Given the description of an element on the screen output the (x, y) to click on. 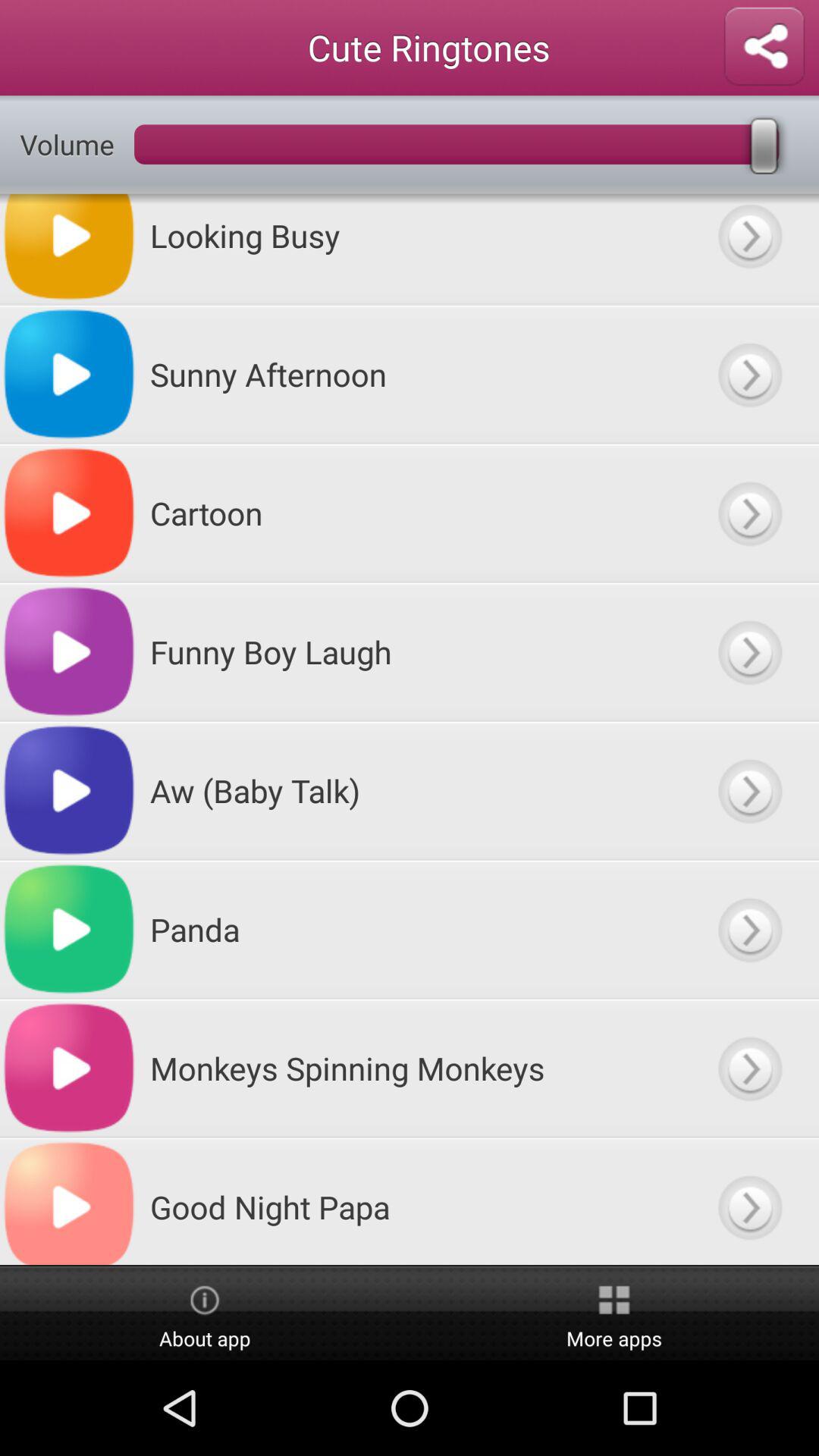
menu (749, 790)
